Given the description of an element on the screen output the (x, y) to click on. 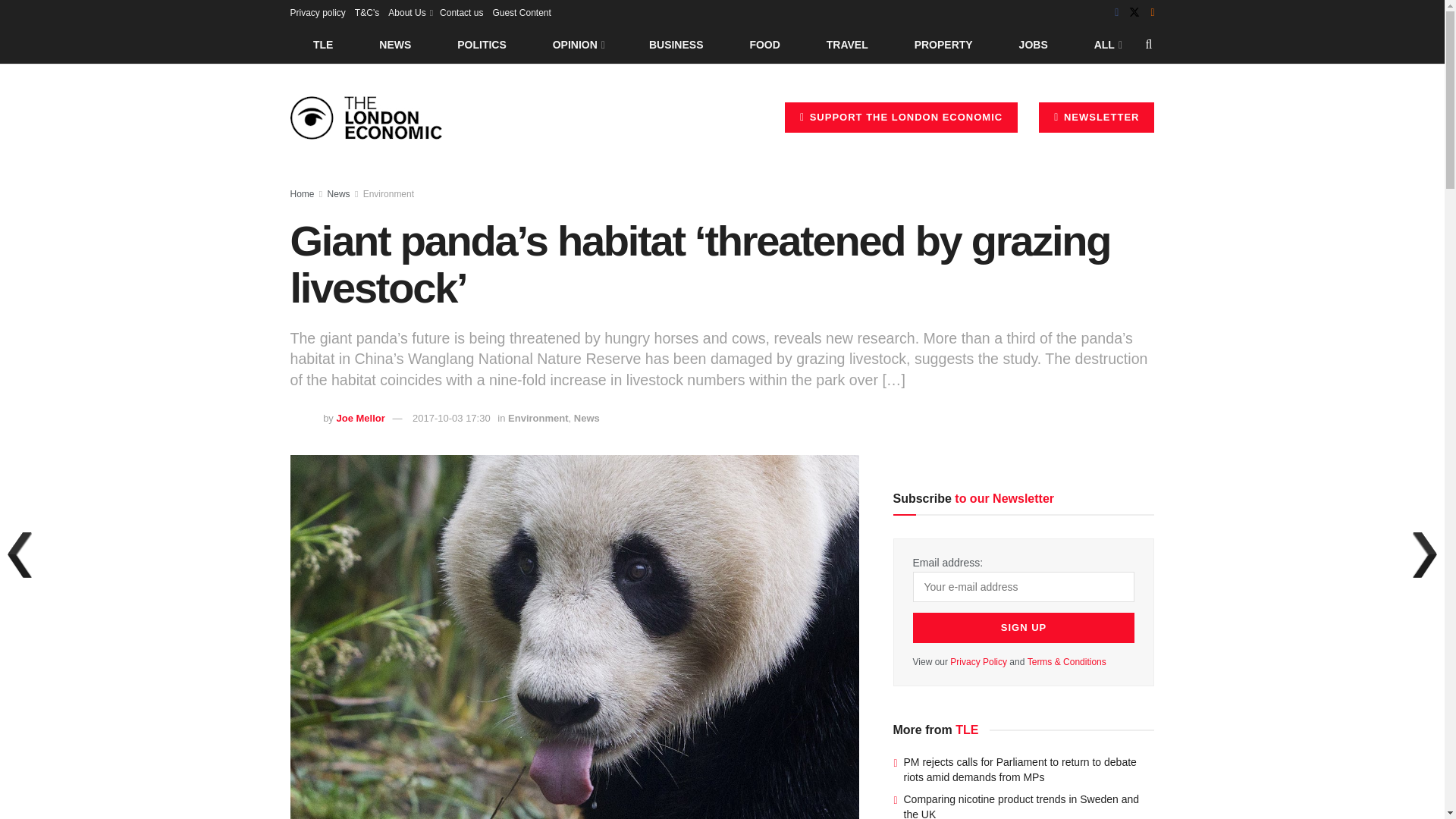
Sign up (1023, 627)
Guest Content (521, 12)
ALL (1106, 44)
PROPERTY (943, 44)
NEWSLETTER (1096, 117)
TRAVEL (847, 44)
OPINION (577, 44)
POLITICS (481, 44)
Contact us (461, 12)
Privacy policy (317, 12)
